Given the description of an element on the screen output the (x, y) to click on. 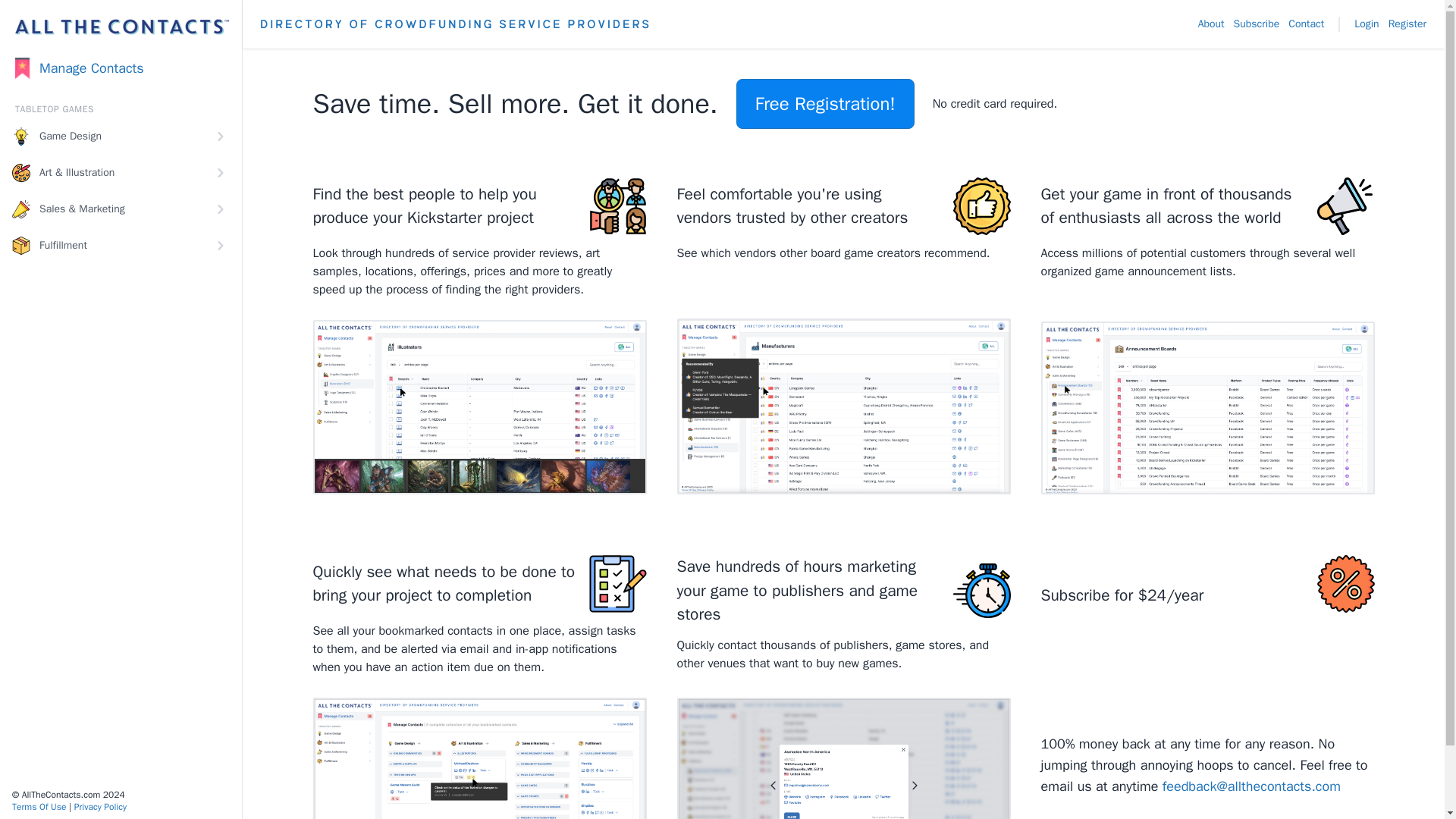
Manage Contacts (120, 68)
Subscribe (1256, 23)
Register (1407, 23)
Login (1366, 23)
Terms Of Use (38, 806)
About (1211, 23)
Contact (1305, 23)
Free Registration! (825, 103)
Privacy Policy (100, 806)
